Given the description of an element on the screen output the (x, y) to click on. 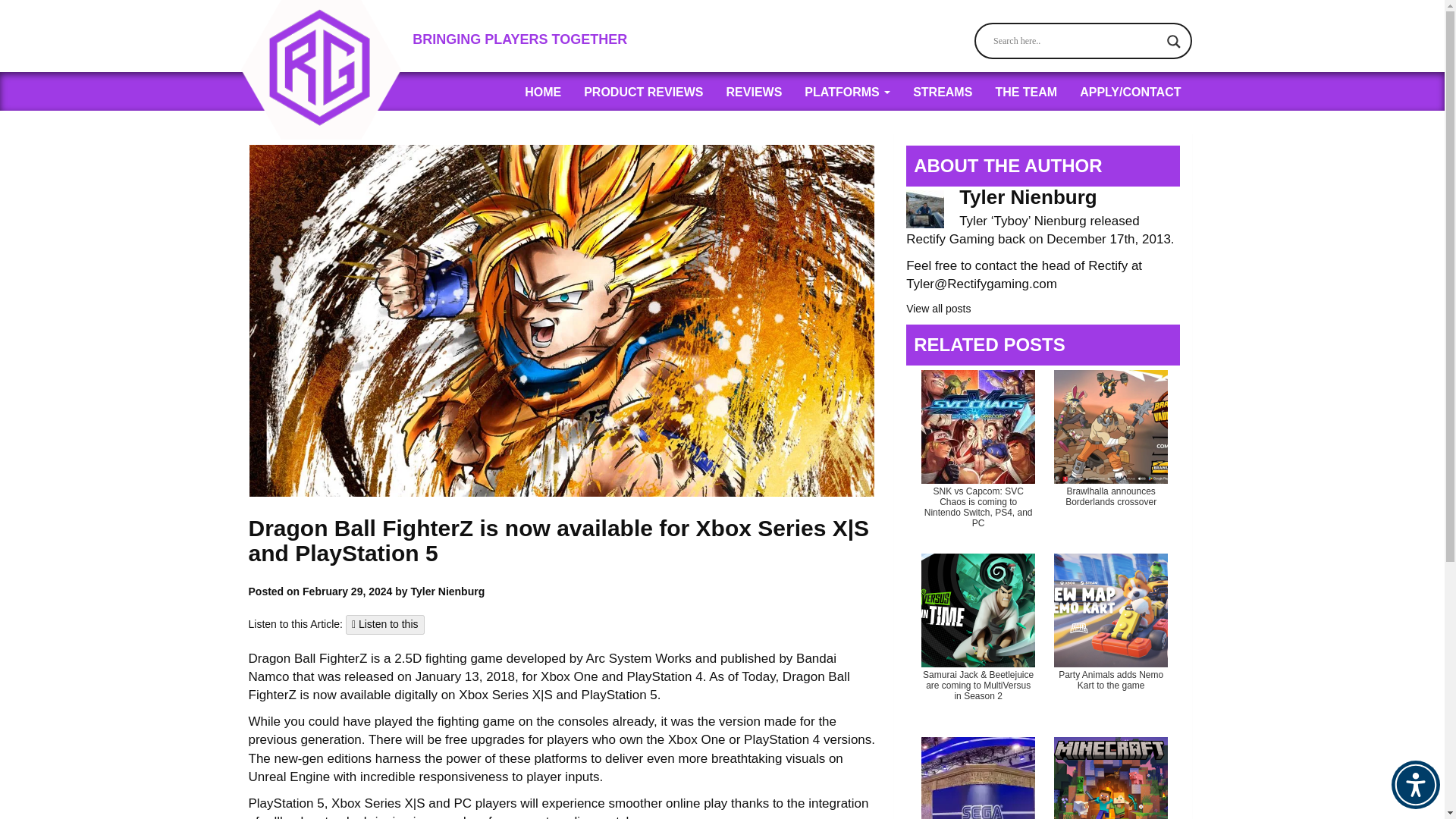
Minecraft Movie style guide looks to have been leaked (1110, 775)
STREAMS (942, 91)
Accessibility Menu (1415, 784)
PRODUCT REVIEWS (643, 91)
Sega will have a booth at Gamescom 2024 (978, 775)
THE TEAM (1026, 91)
View all posts (938, 308)
HOME (542, 91)
PLATFORMS (847, 91)
REVIEWS (753, 91)
